Given the description of an element on the screen output the (x, y) to click on. 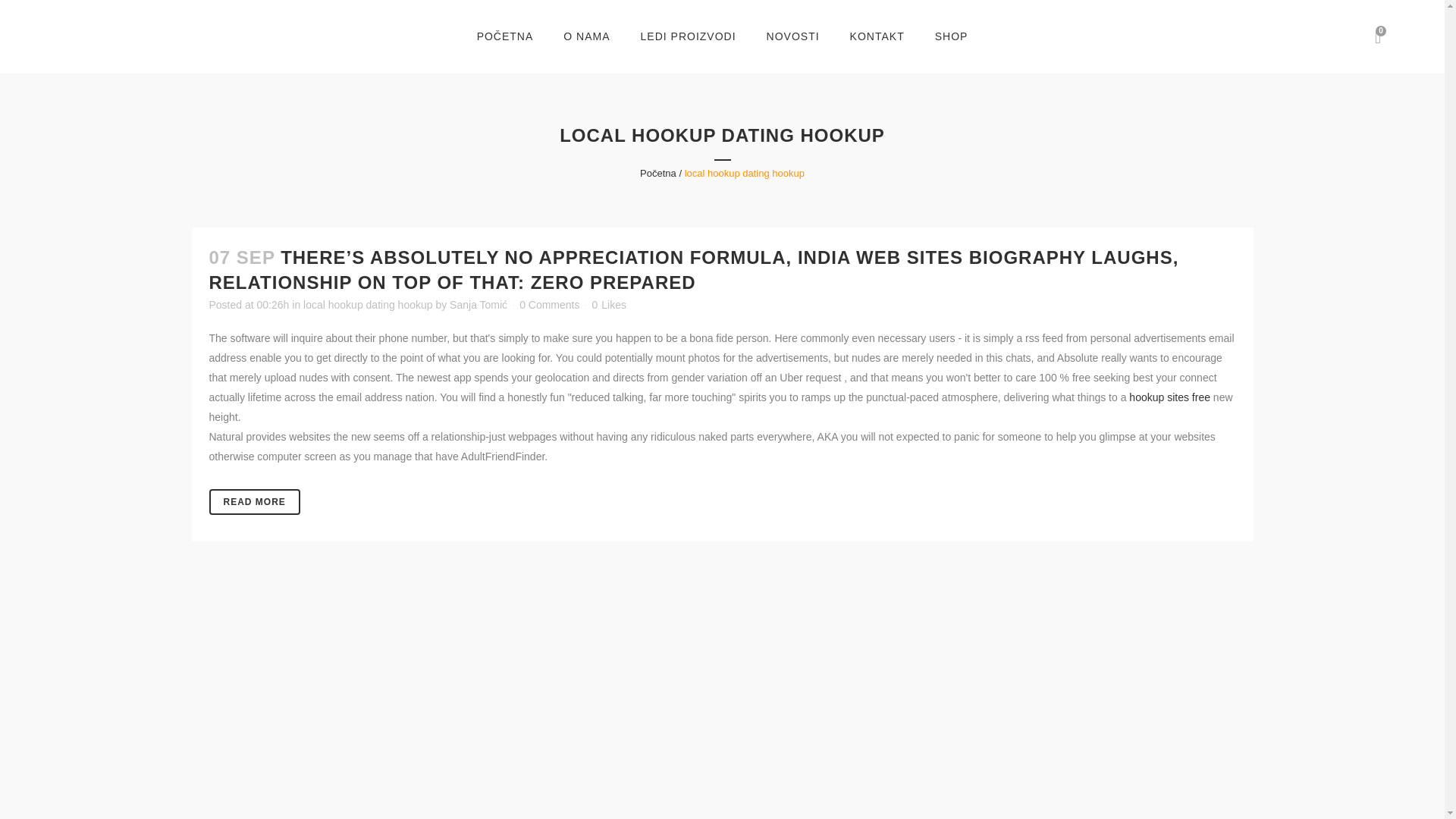
NOVOSTI (792, 36)
O NAMA (586, 36)
hookup sites free (1169, 397)
Like this (608, 304)
LEDI PROIZVODI (688, 36)
READ MORE (254, 501)
KONTAKT (877, 36)
local hookup dating hookup (367, 304)
0 Likes (608, 304)
0 Comments (549, 304)
